Given the description of an element on the screen output the (x, y) to click on. 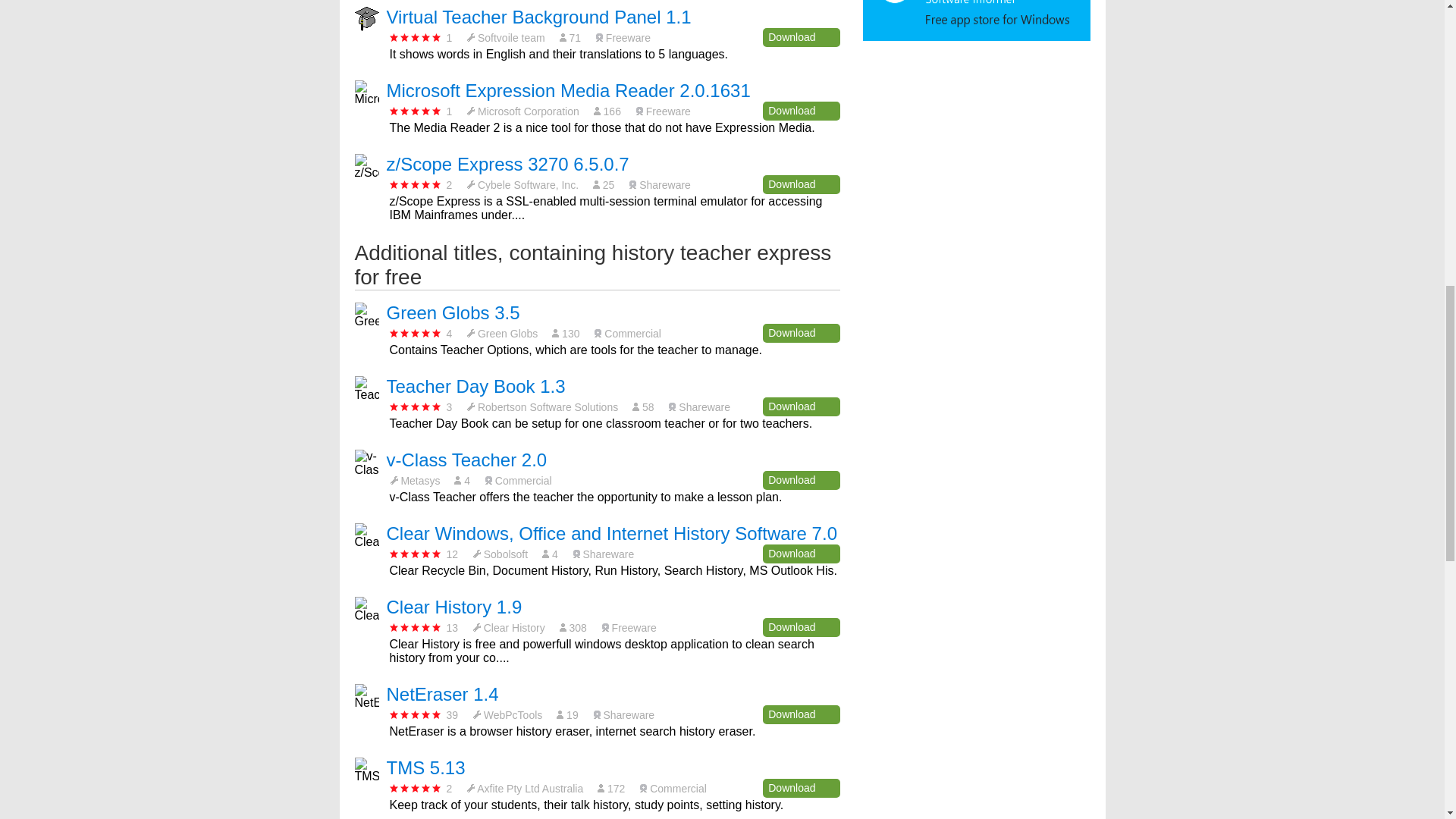
Download (801, 553)
Virtual Teacher Background Panel 1.1 (539, 16)
3 (415, 37)
Download (801, 184)
Download (801, 110)
NetEraser 1.4 (443, 693)
Download (801, 714)
v-Class Teacher 2.0 (467, 459)
Clear Windows, Office and Internet History Software 7.0 (612, 533)
Download (801, 36)
Green Globs 3.5 (453, 312)
Clear History 1.9 (454, 607)
5 (415, 111)
Microsoft Expression Media Reader 2.0.1631 (569, 90)
5 (415, 184)
